Given the description of an element on the screen output the (x, y) to click on. 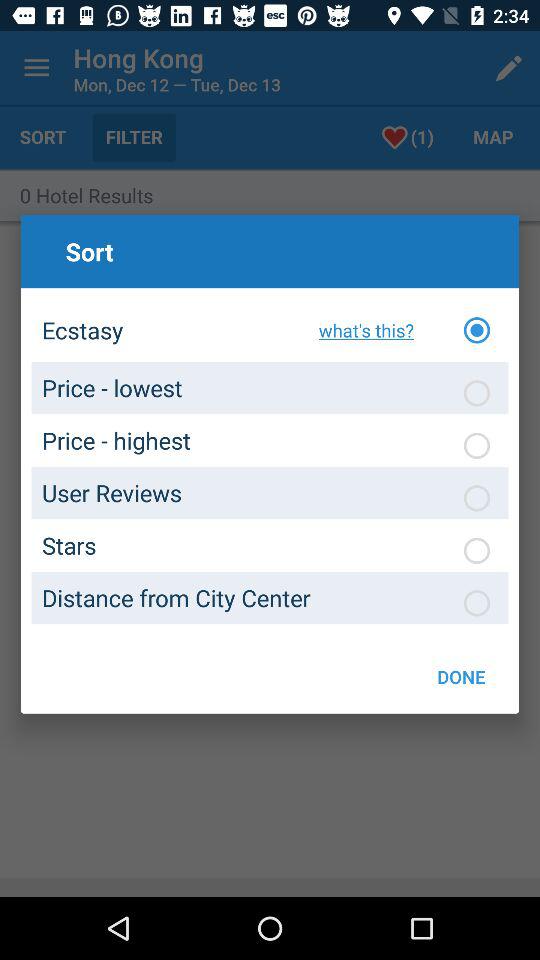
select the option button (477, 330)
